Given the description of an element on the screen output the (x, y) to click on. 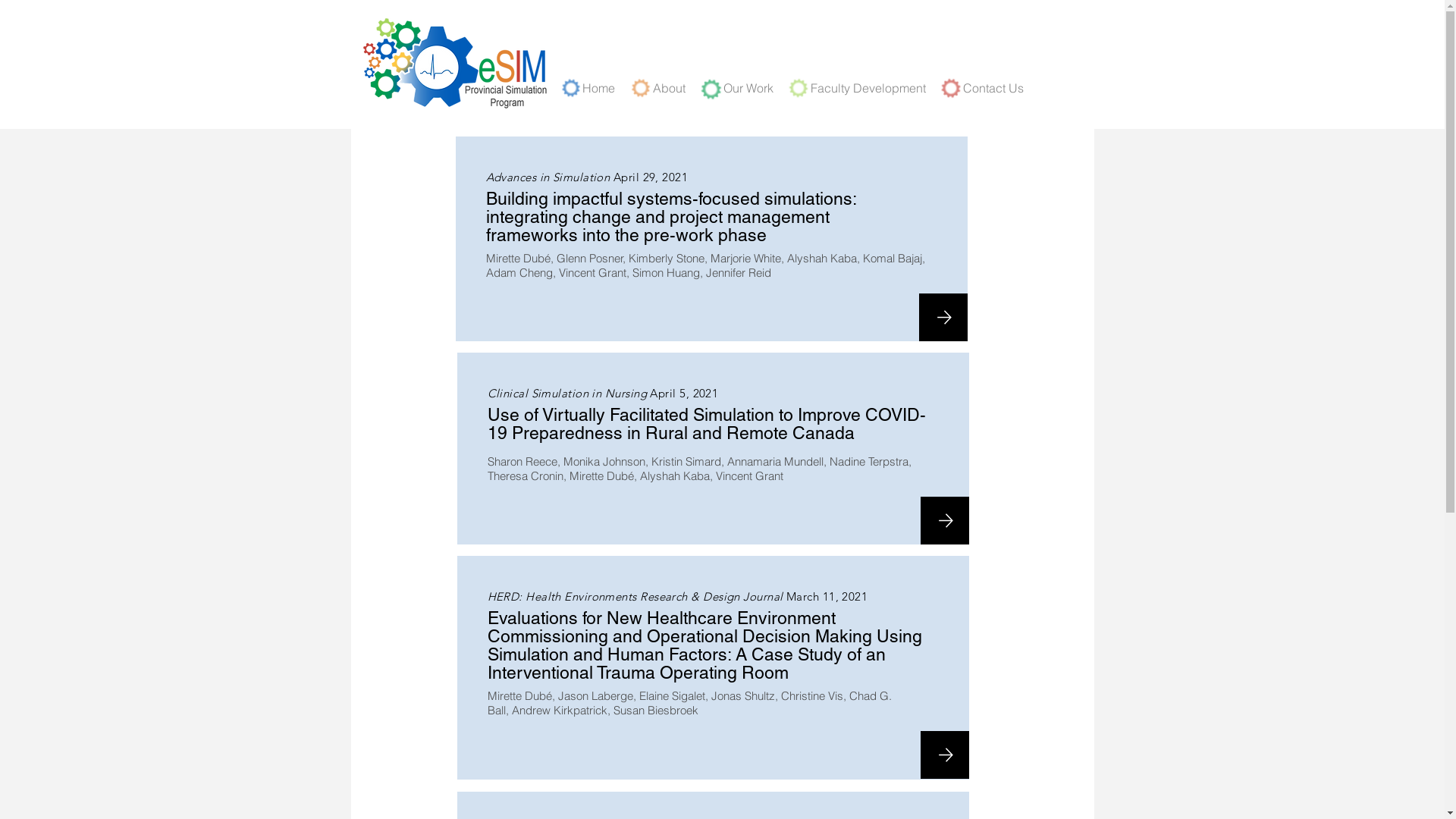
Jason Laberge Element type: text (595, 695)
eSIMGearsLogo.png Element type: hover (455, 63)
Home Element type: text (605, 85)
Contact Us Element type: text (999, 85)
Andrew Kirkpatrick Element type: text (558, 709)
Christine Vis Element type: text (812, 695)
Jonas Shultz Element type: text (743, 695)
Elaine Sigalet Element type: text (671, 695)
Faculty Development Element type: text (875, 85)
Chad G. Ball Element type: text (688, 702)
Susan Biesbroek Element type: text (654, 709)
